Given the description of an element on the screen output the (x, y) to click on. 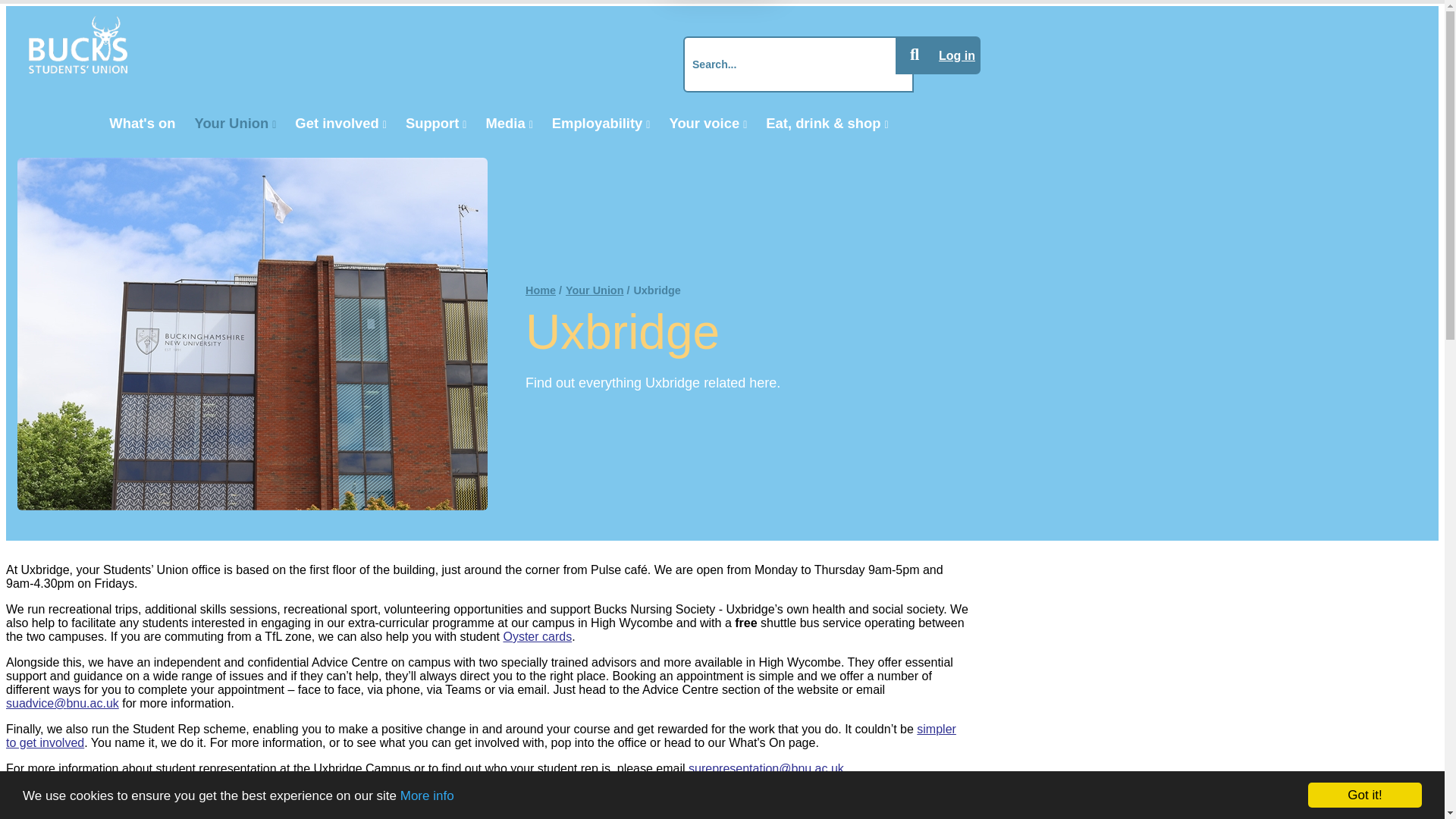
Search (914, 55)
Log in (956, 55)
Your Union (234, 123)
Get involved (340, 123)
What's on (142, 123)
Search (914, 55)
